Given the description of an element on the screen output the (x, y) to click on. 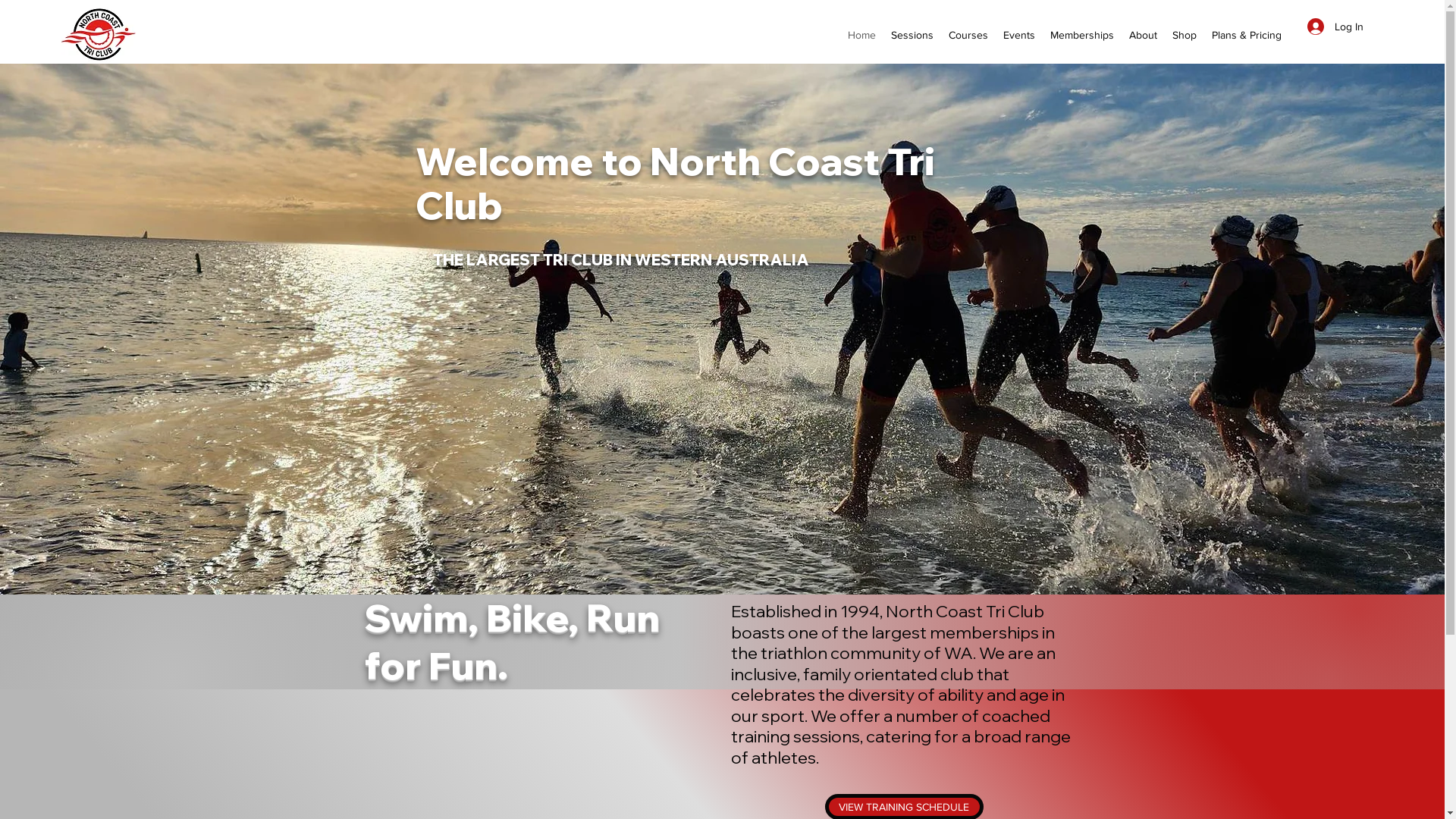
Memberships Element type: text (1081, 34)
Courses Element type: text (968, 34)
Sessions Element type: text (912, 34)
Log In Element type: text (1335, 26)
Shop Element type: text (1184, 34)
Plans & Pricing Element type: text (1246, 34)
Home Element type: text (861, 34)
